Given the description of an element on the screen output the (x, y) to click on. 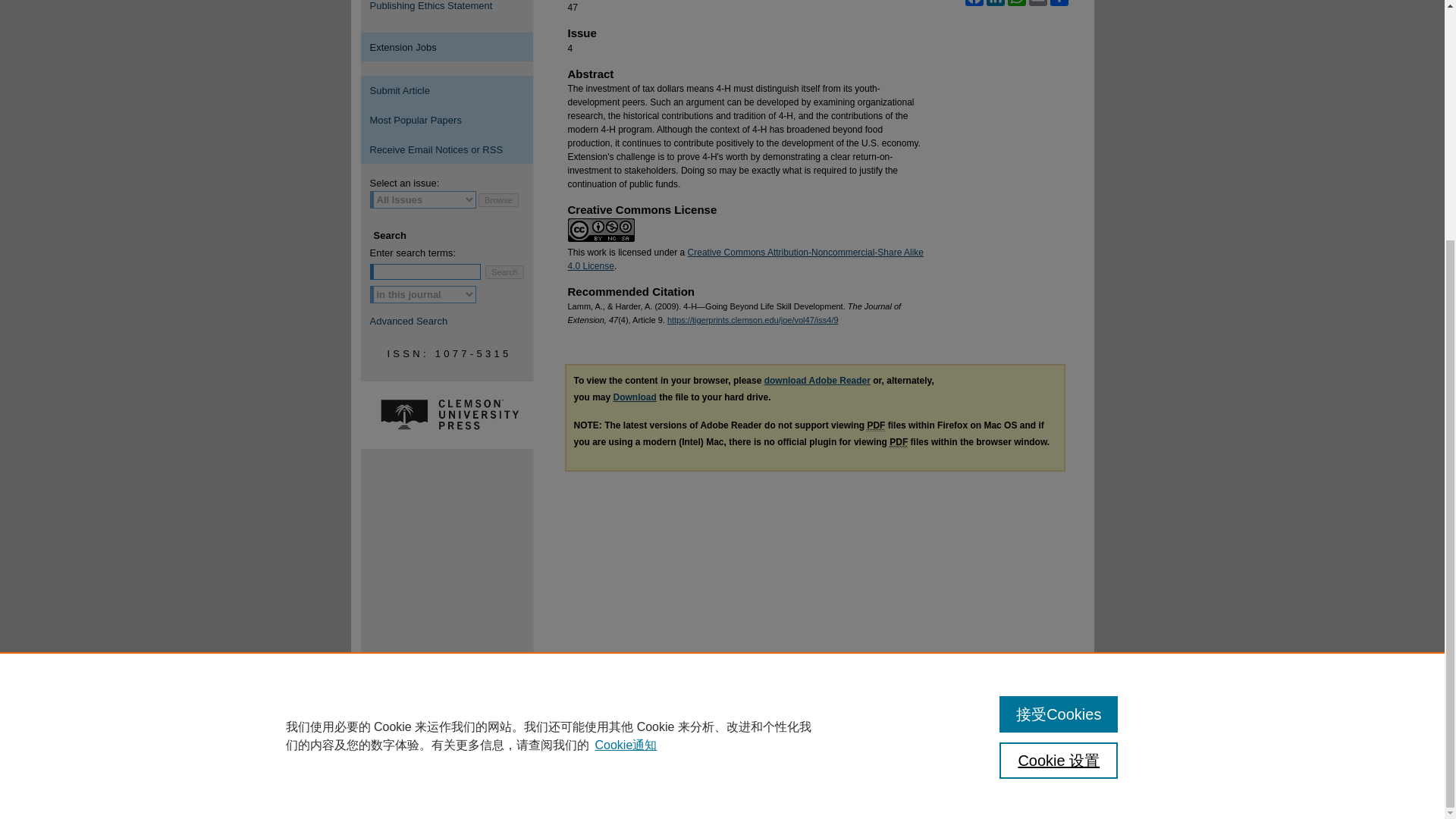
Browse (498, 200)
Adobe - Adobe Reader download (817, 380)
Browse (498, 200)
Facebook (973, 2)
download Adobe Reader (817, 380)
WhatsApp (1016, 2)
Search (504, 271)
Search (504, 271)
Download (634, 397)
Email (1037, 2)
Portable Document Format (875, 425)
LinkedIn (995, 2)
